Given the description of an element on the screen output the (x, y) to click on. 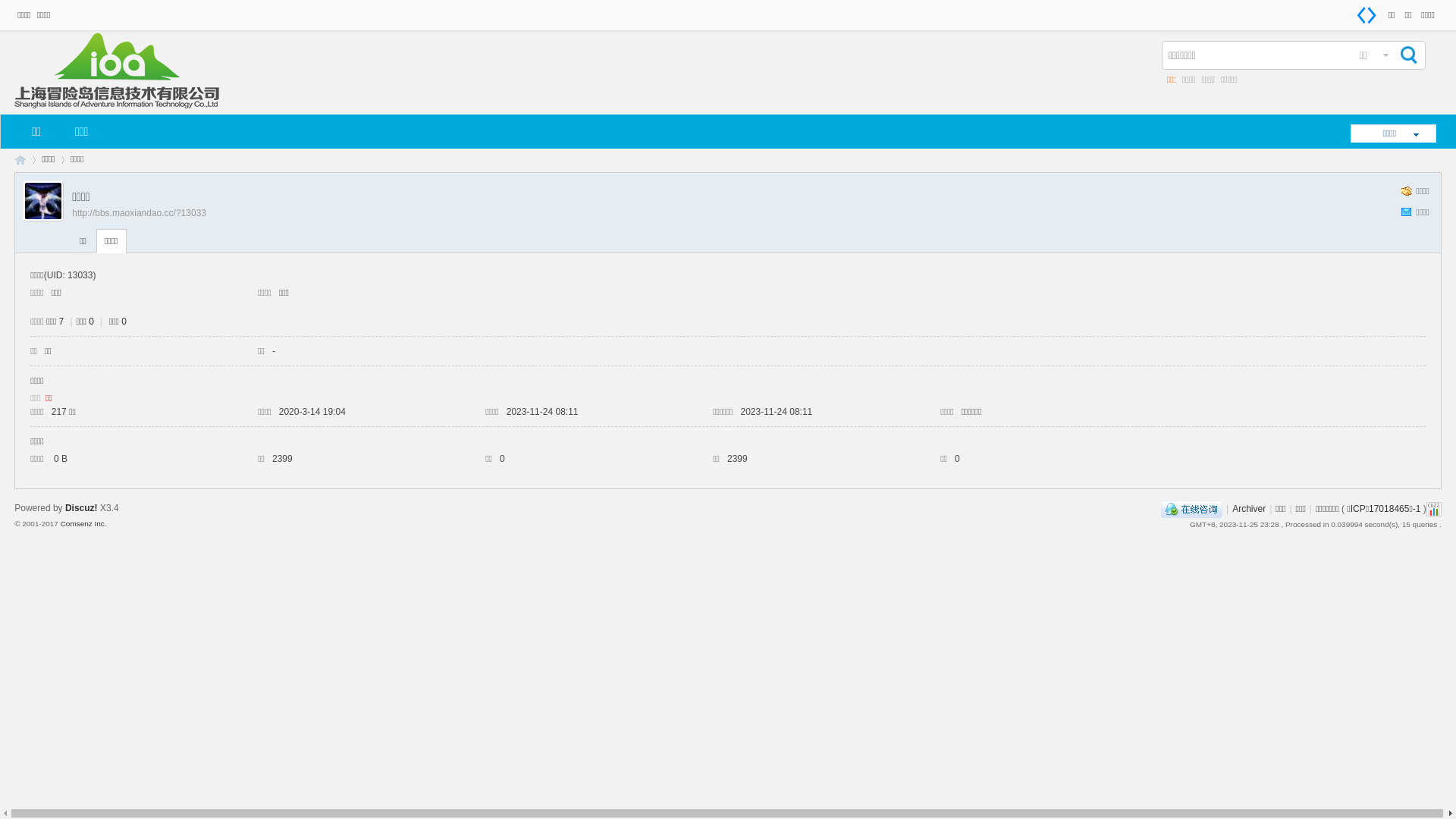
QQ Element type: hover (1191, 508)
Archiver Element type: text (1248, 508)
Comsenz Inc. Element type: text (83, 523)
http://bbs.maoxiandao.cc/?13033 Element type: text (139, 212)
Discuz! Element type: text (81, 507)
true Element type: text (1407, 55)
